Given the description of an element on the screen output the (x, y) to click on. 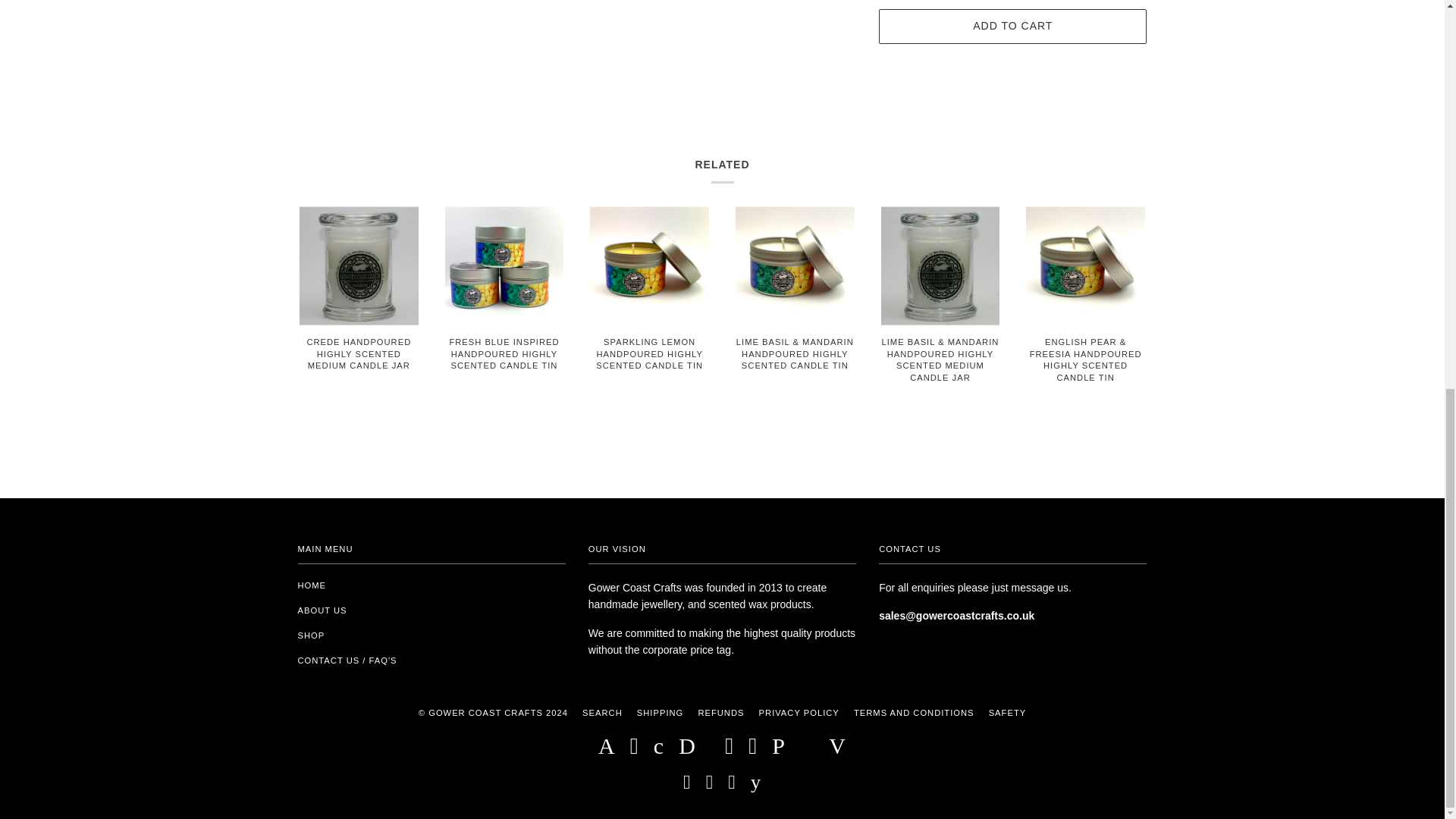
Gower Coast Crafts on Pinterest (732, 785)
Gower Coast Crafts on Instagram (710, 785)
Gower Coast Crafts on Youtube (756, 785)
Gower Coast Crafts on Facebook (686, 785)
